Given the description of an element on the screen output the (x, y) to click on. 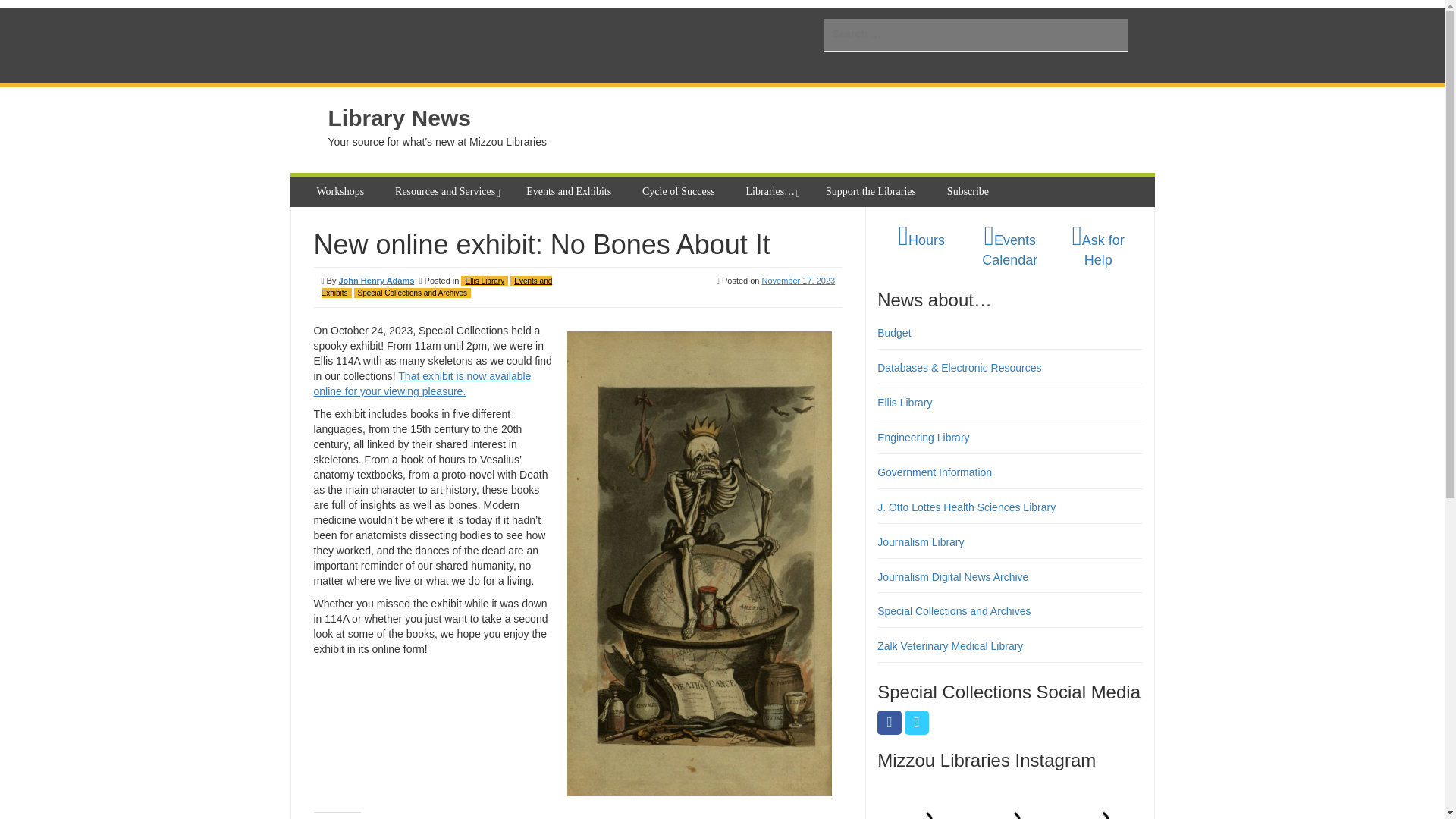
John Henry Adams (375, 280)
Workshops (341, 191)
Upcoming Events (1008, 249)
Ellis Library (484, 280)
Cycle of Success (680, 191)
Special Collections and Archives (412, 293)
Events and Exhibits (570, 191)
Library News (398, 117)
Libraries, University of Missouri (444, 45)
November 17, 2023 (798, 280)
Events and Exhibits (437, 287)
Search (22, 9)
Subscribe (969, 191)
Support the Libraries (872, 191)
